Given the description of an element on the screen output the (x, y) to click on. 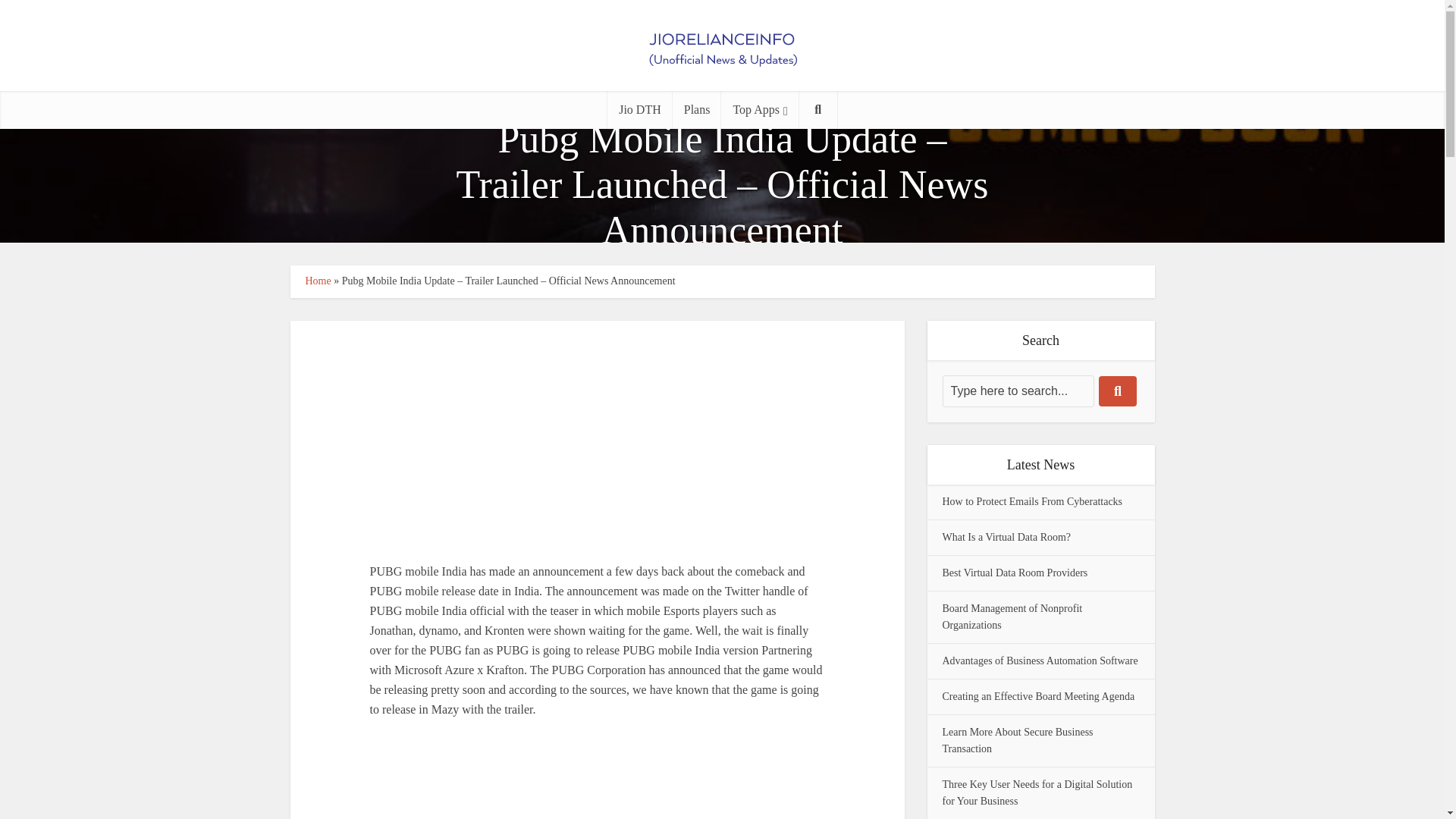
Top Apps (758, 109)
Type here to search... (1017, 391)
Plans (697, 109)
Advertisement (596, 432)
Type here to search... (1017, 391)
Jio DTH (639, 109)
Home (317, 280)
Advertisement (597, 780)
